Given the description of an element on the screen output the (x, y) to click on. 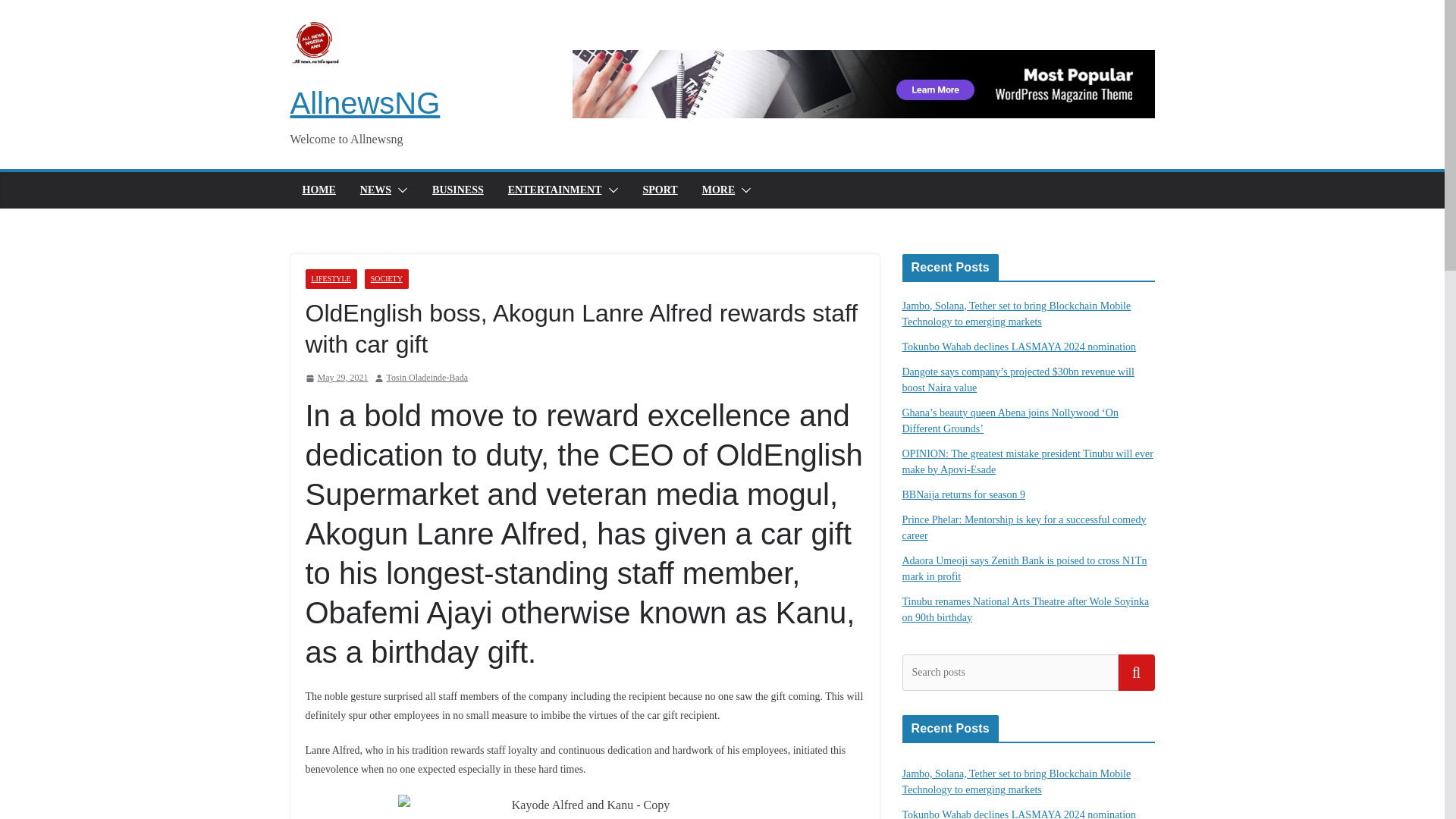
BUSINESS (457, 189)
HOME (317, 189)
May 29, 2021 (336, 378)
7:53 am (336, 378)
Search (1136, 672)
Tokunbo Wahab declines LASMAYA 2024 nomination (1019, 346)
NEWS (375, 189)
AllnewsNG (364, 102)
BBNaija returns for season 9 (964, 494)
ENTERTAINMENT (555, 189)
SPORT (660, 189)
Tosin Oladeinde-Bada (427, 378)
